Given the description of an element on the screen output the (x, y) to click on. 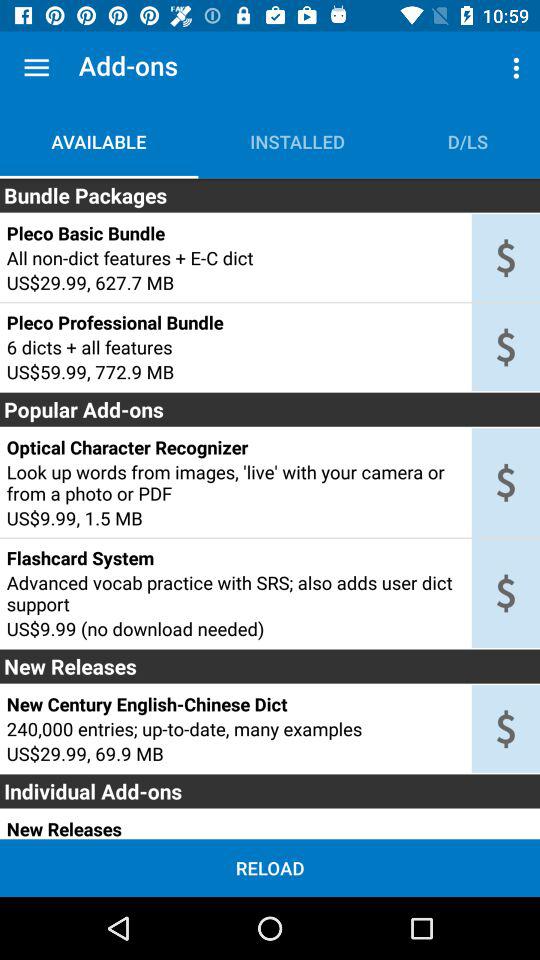
tap d/ls item (468, 141)
